Given the description of an element on the screen output the (x, y) to click on. 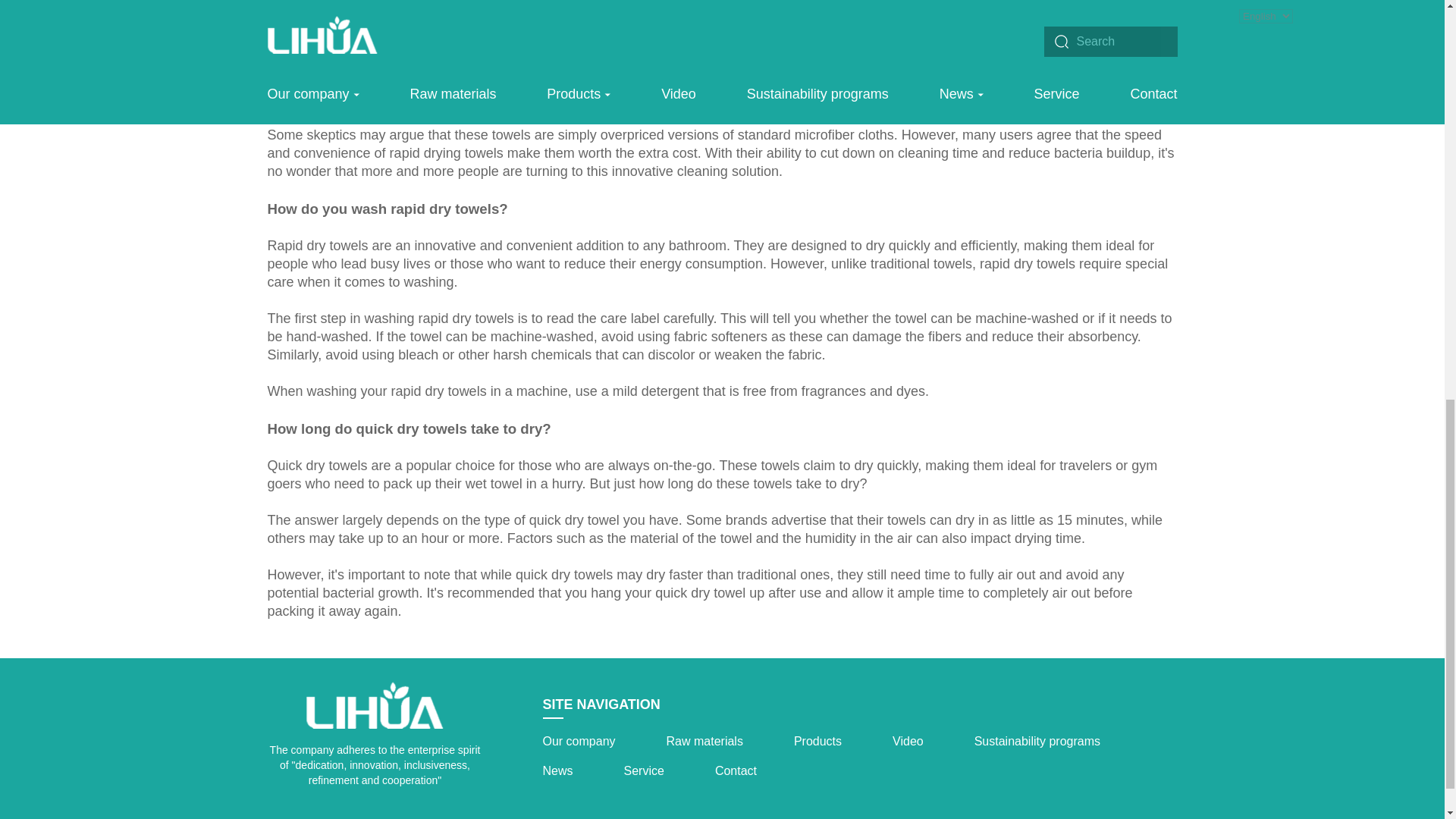
Our company (579, 741)
Sustainability programs (1037, 741)
Video (907, 741)
News (558, 771)
Service (643, 771)
Raw materials (704, 741)
Contact (735, 771)
Products (817, 741)
